Given the description of an element on the screen output the (x, y) to click on. 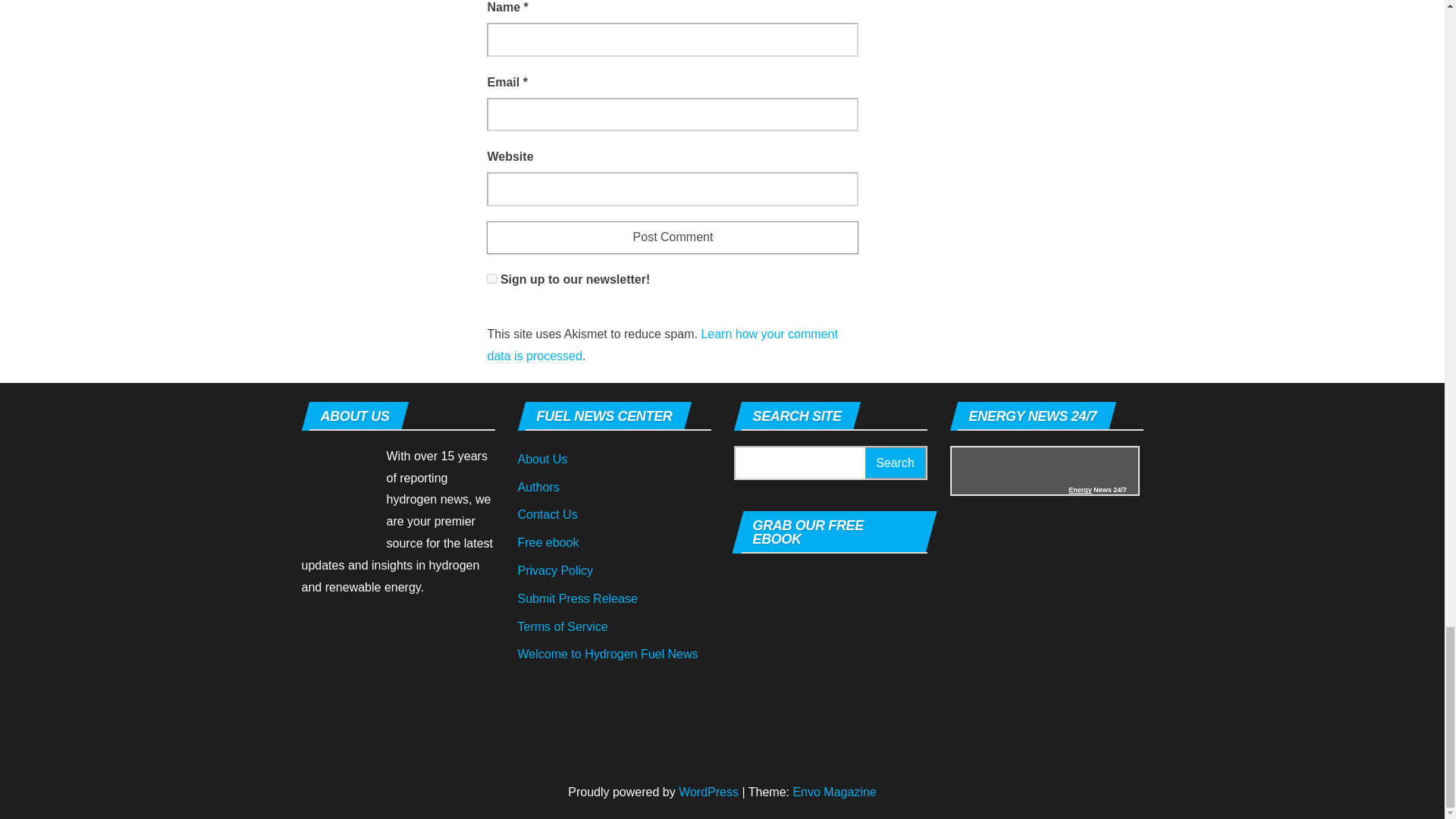
Search (894, 462)
1 (491, 278)
Post Comment (672, 237)
